Given the description of an element on the screen output the (x, y) to click on. 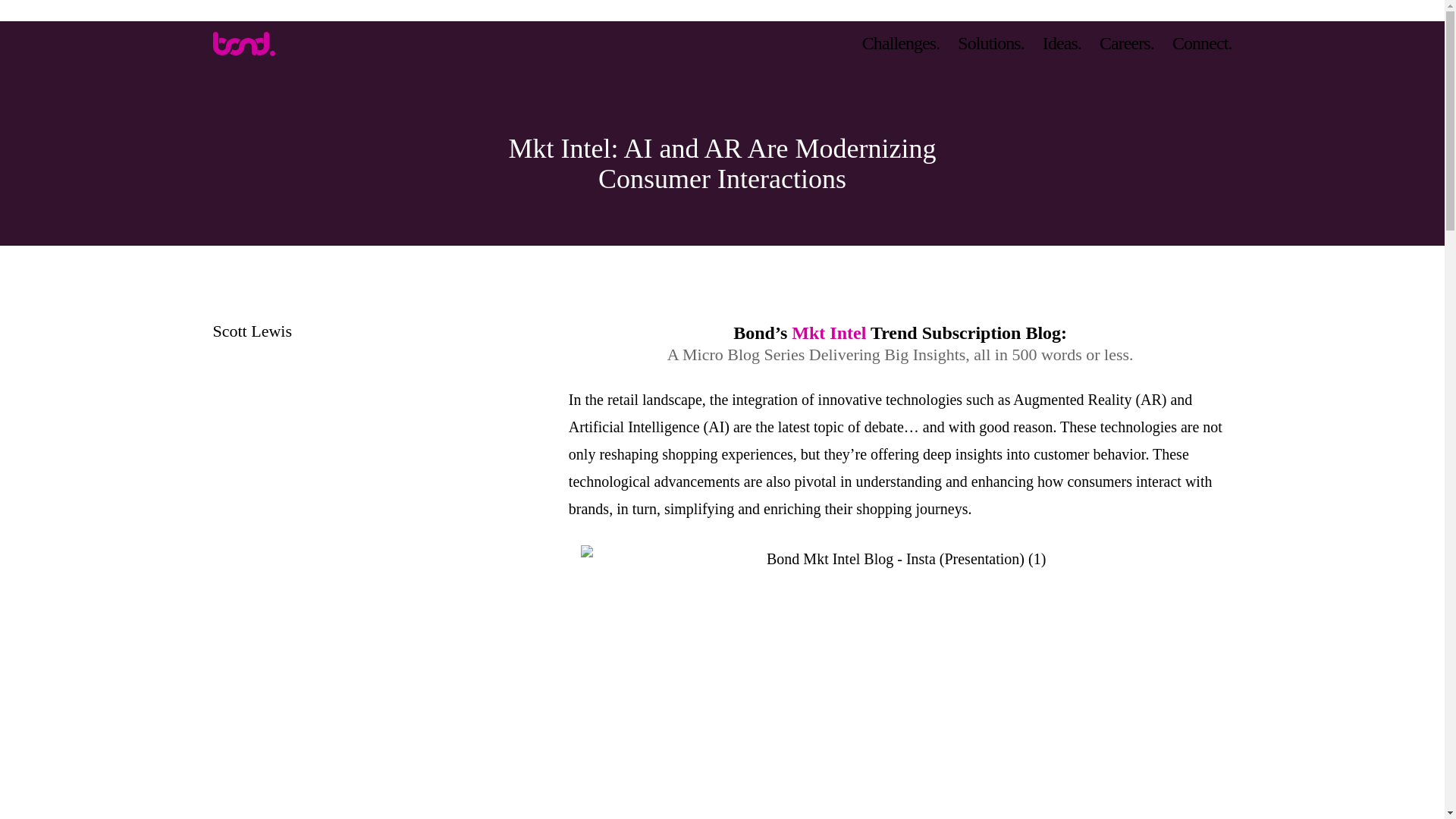
Bond Logo (243, 43)
Connect. (1202, 43)
Challenges. (901, 43)
Solutions. (991, 43)
Careers. (1126, 43)
Mkt Intel (829, 332)
Ideas. (1061, 43)
